Given the description of an element on the screen output the (x, y) to click on. 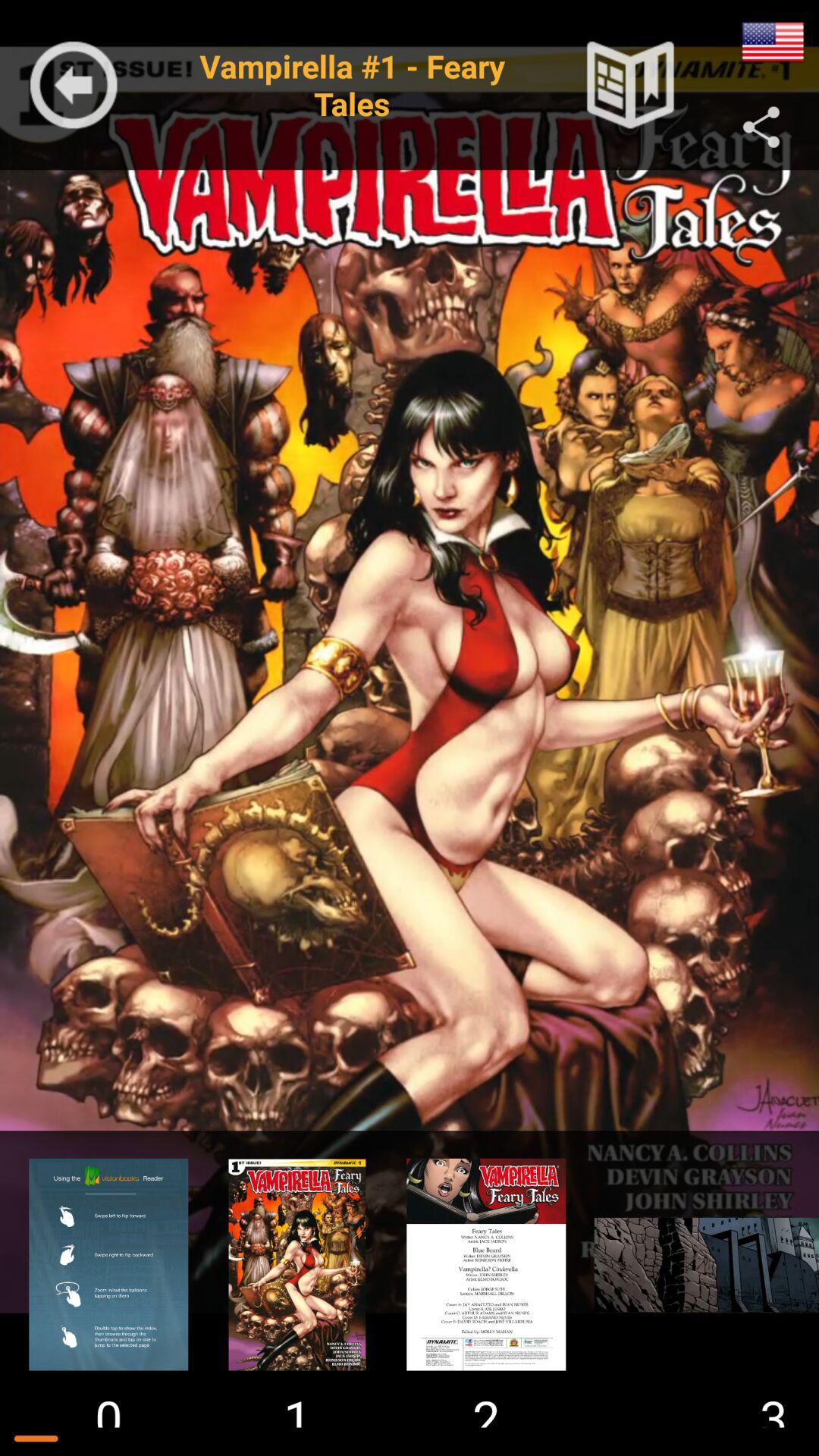
select image (699, 1264)
